Given the description of an element on the screen output the (x, y) to click on. 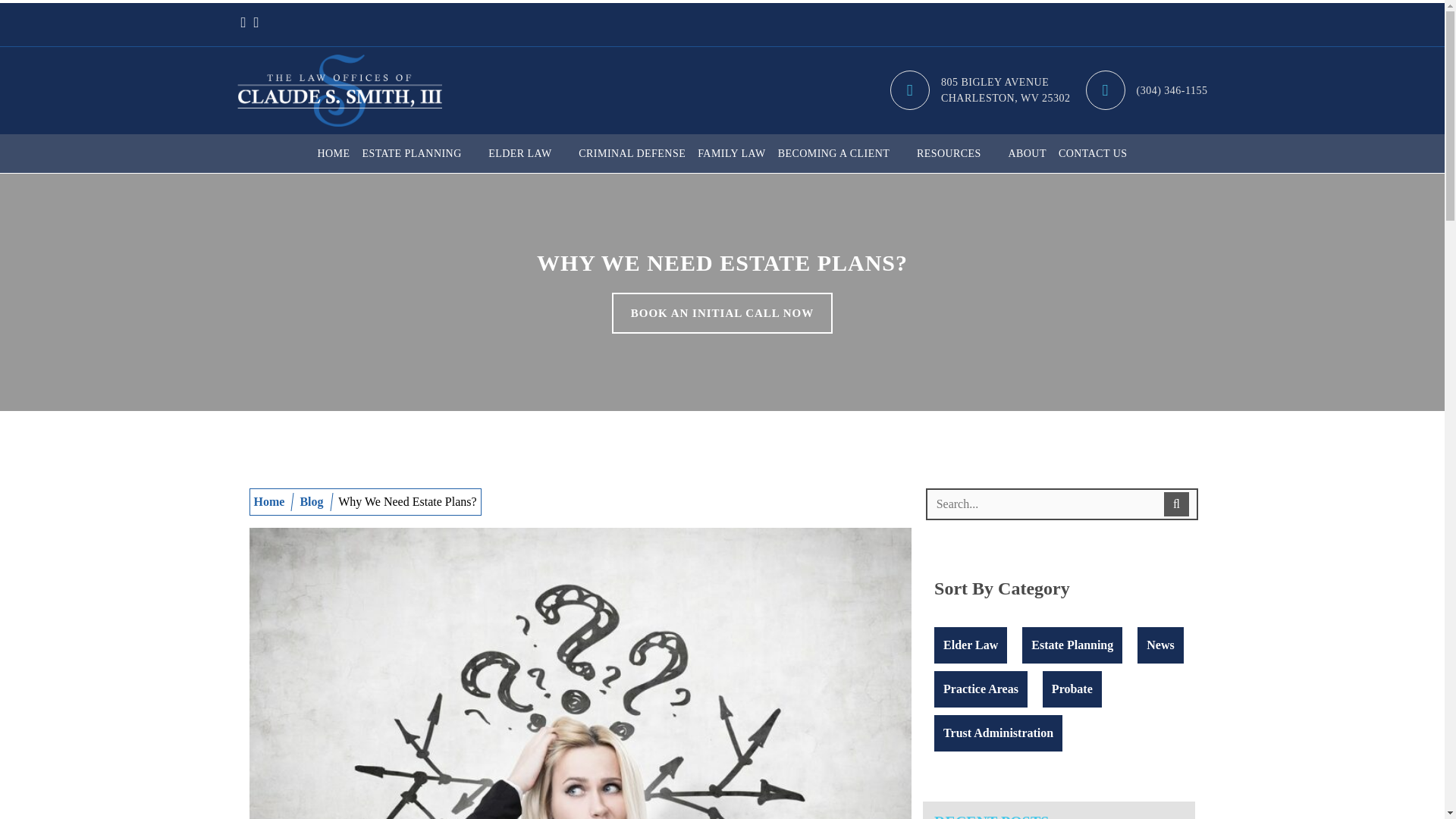
ESTATE PLANNING (418, 153)
Directions to Law Offices of Claude S. Smith, III (979, 89)
ELDER LAW (979, 89)
Call Law Offices of Claude S. Smith, III (526, 153)
